Given the description of an element on the screen output the (x, y) to click on. 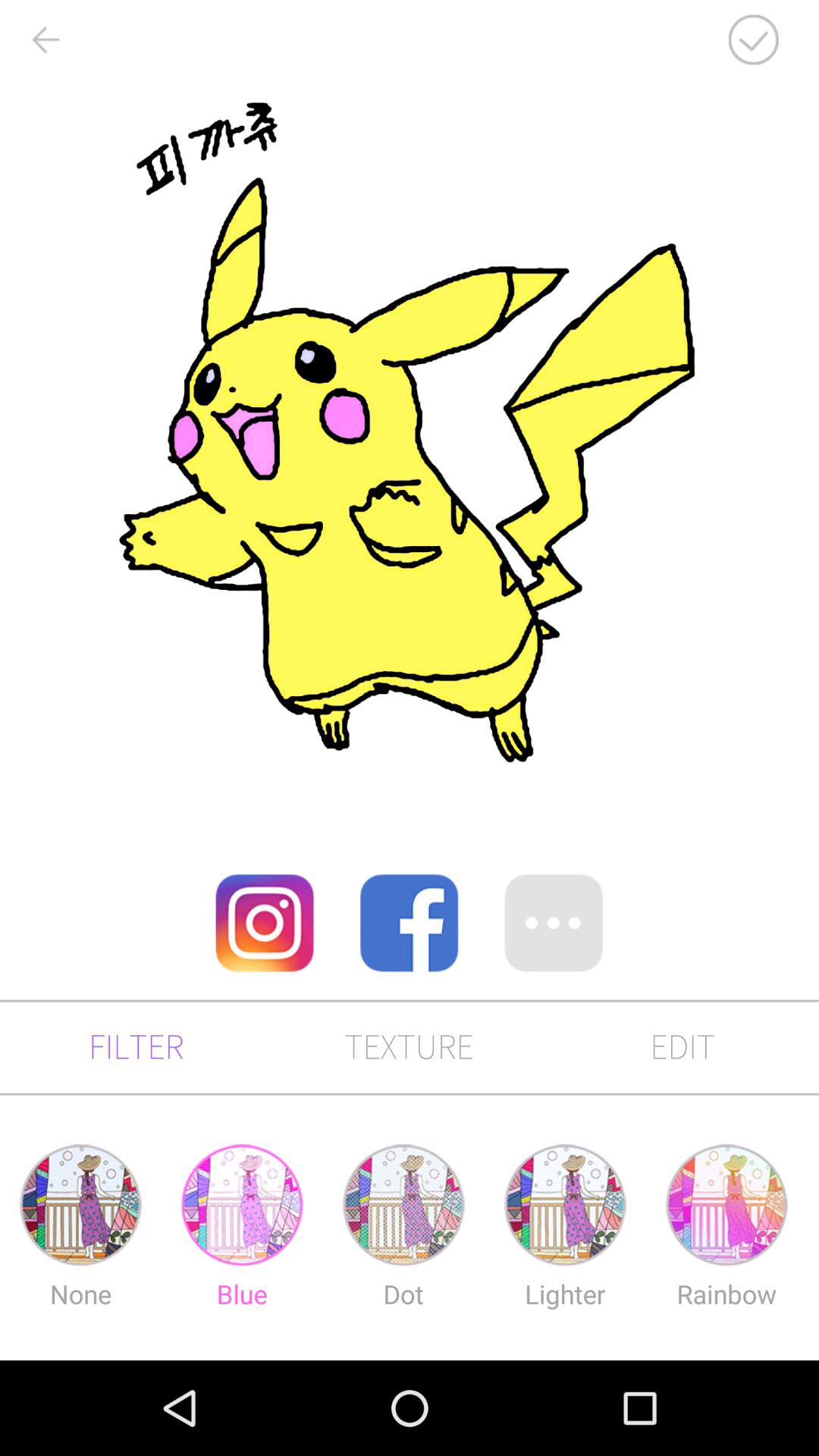
turn off the item at the top left corner (45, 39)
